Given the description of an element on the screen output the (x, y) to click on. 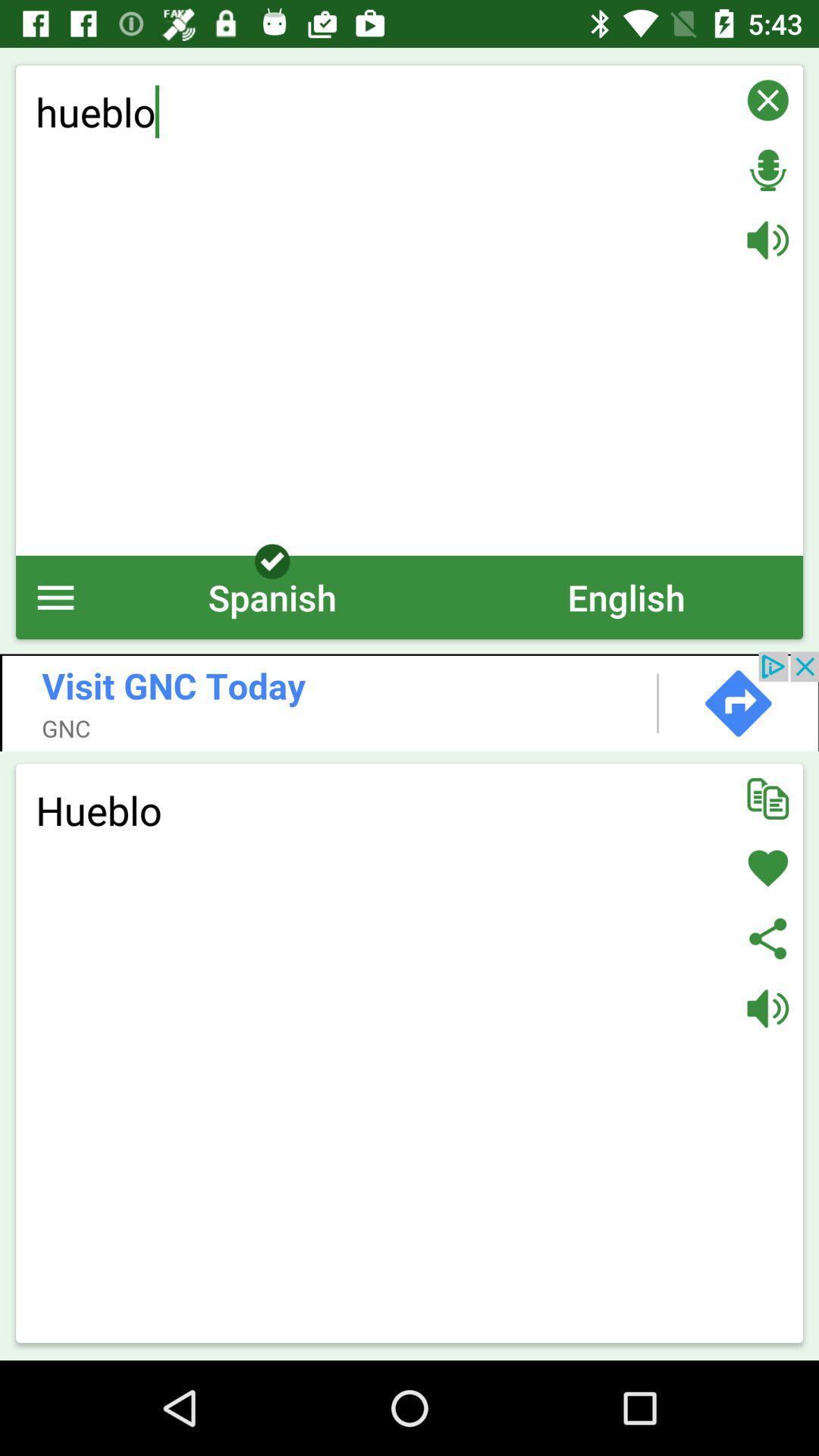
exit (768, 100)
